Given the description of an element on the screen output the (x, y) to click on. 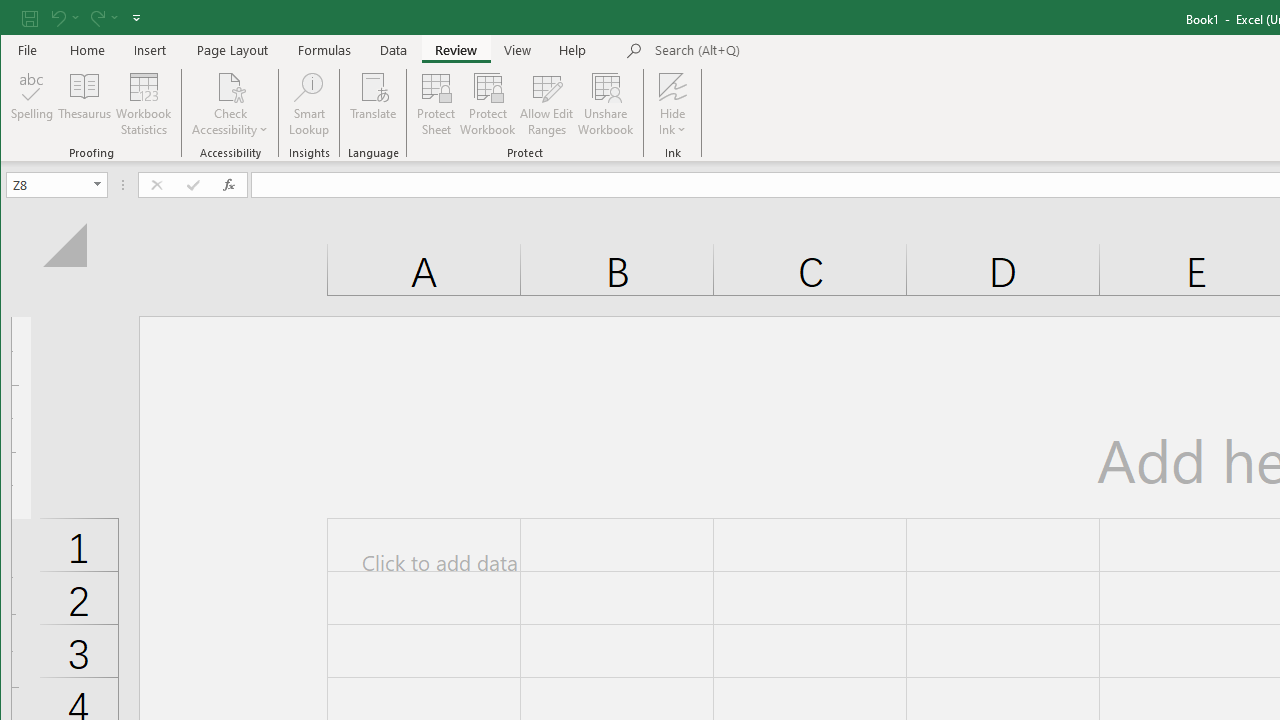
Unshare Workbook (606, 104)
Workbook Statistics (143, 104)
Smart Lookup (308, 104)
Protect Workbook... (488, 104)
Allow Edit Ranges (547, 104)
Spelling... (32, 104)
